Given the description of an element on the screen output the (x, y) to click on. 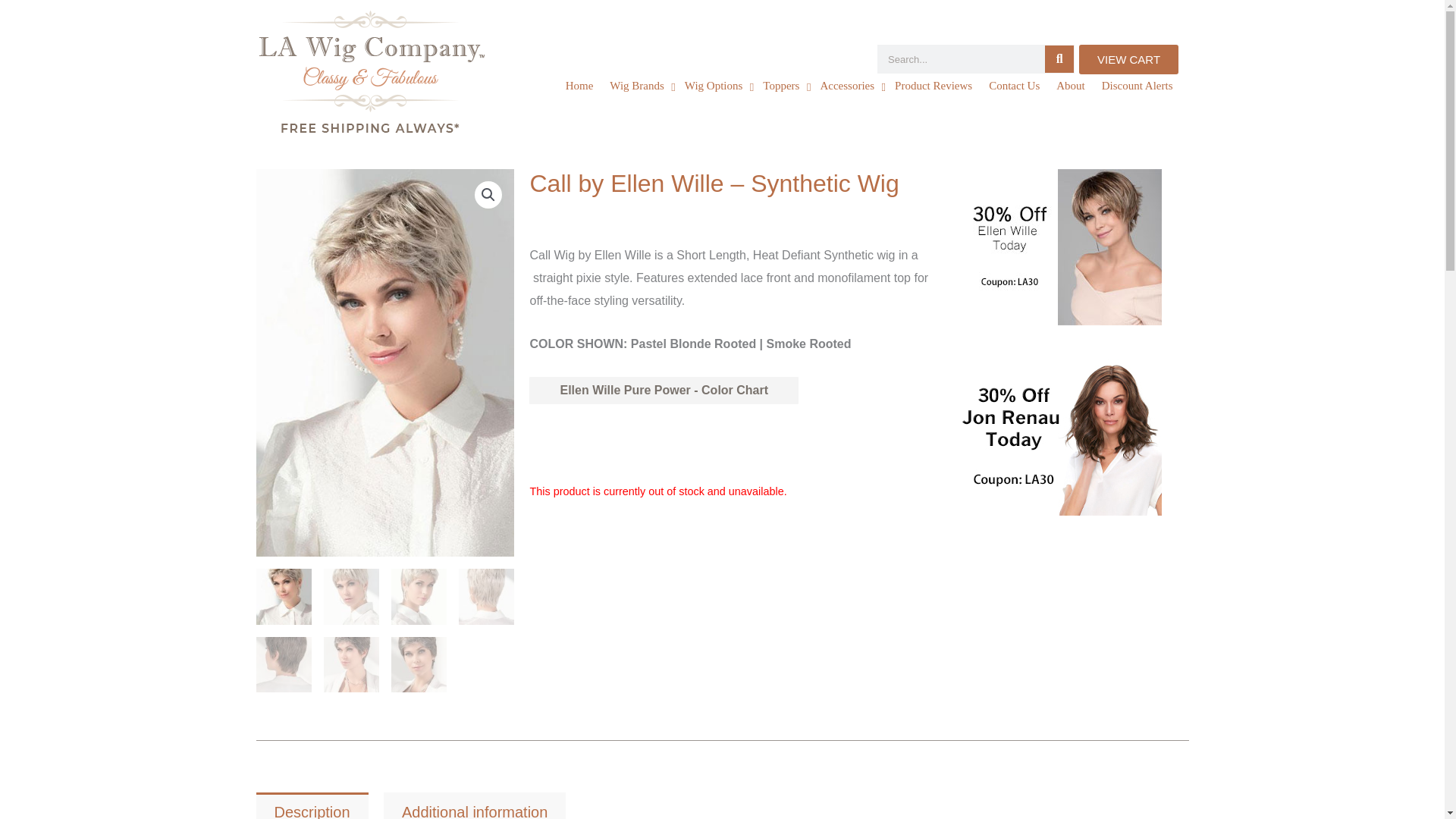
Wig Brands (638, 86)
VIEW CART (1127, 59)
Wig Options (715, 86)
Home (579, 86)
